Given the description of an element on the screen output the (x, y) to click on. 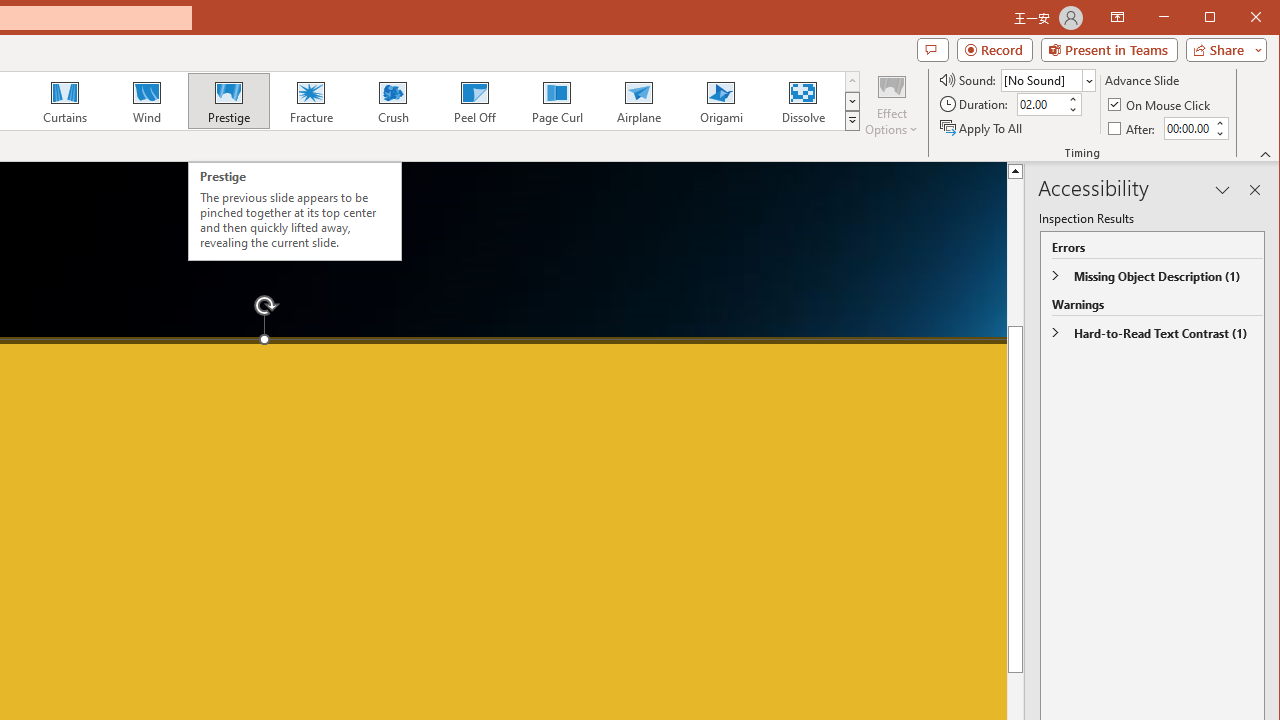
Peel Off (474, 100)
Page Curl (556, 100)
Airplane (638, 100)
Duration (1040, 104)
Curtains (65, 100)
Crush (392, 100)
Origami (720, 100)
